Given the description of an element on the screen output the (x, y) to click on. 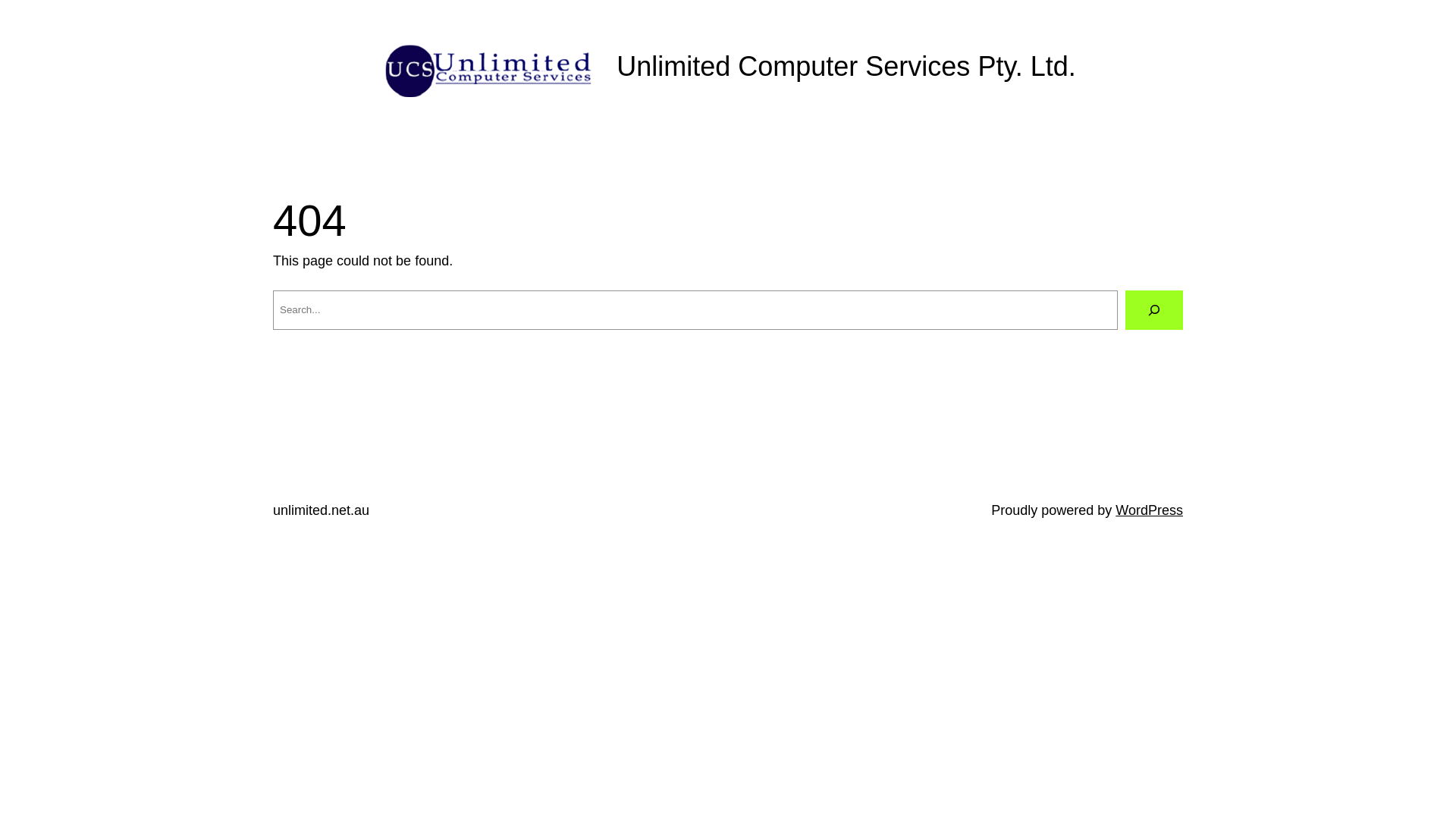
unlimited.net.au Element type: text (321, 509)
WordPress Element type: text (1149, 509)
